Given the description of an element on the screen output the (x, y) to click on. 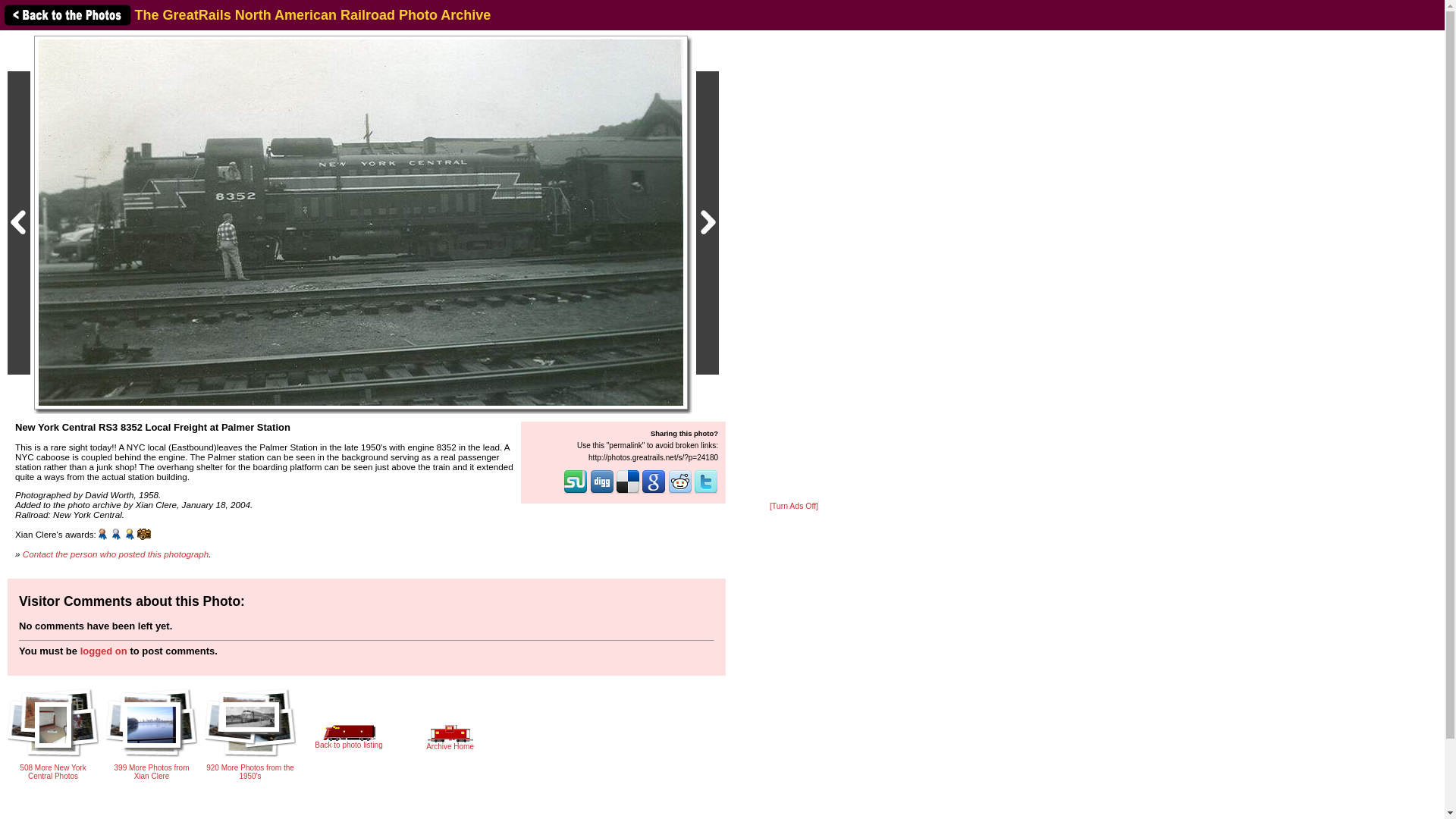
Submit to Google Bookmarks (653, 492)
logged on (104, 650)
Archive Home (450, 742)
920 More Photos from the 1950's (250, 750)
Submit to Digg (601, 492)
Submit to Stumble (575, 492)
Contact the person who posted this photograph (116, 553)
508 More New York Central Photos (52, 767)
399 More Photos from Xian Clere (151, 767)
Submit to Del.icio.us (627, 492)
Submit to Reddit (680, 492)
Back to photo listing (348, 740)
Twit This (705, 492)
